Given the description of an element on the screen output the (x, y) to click on. 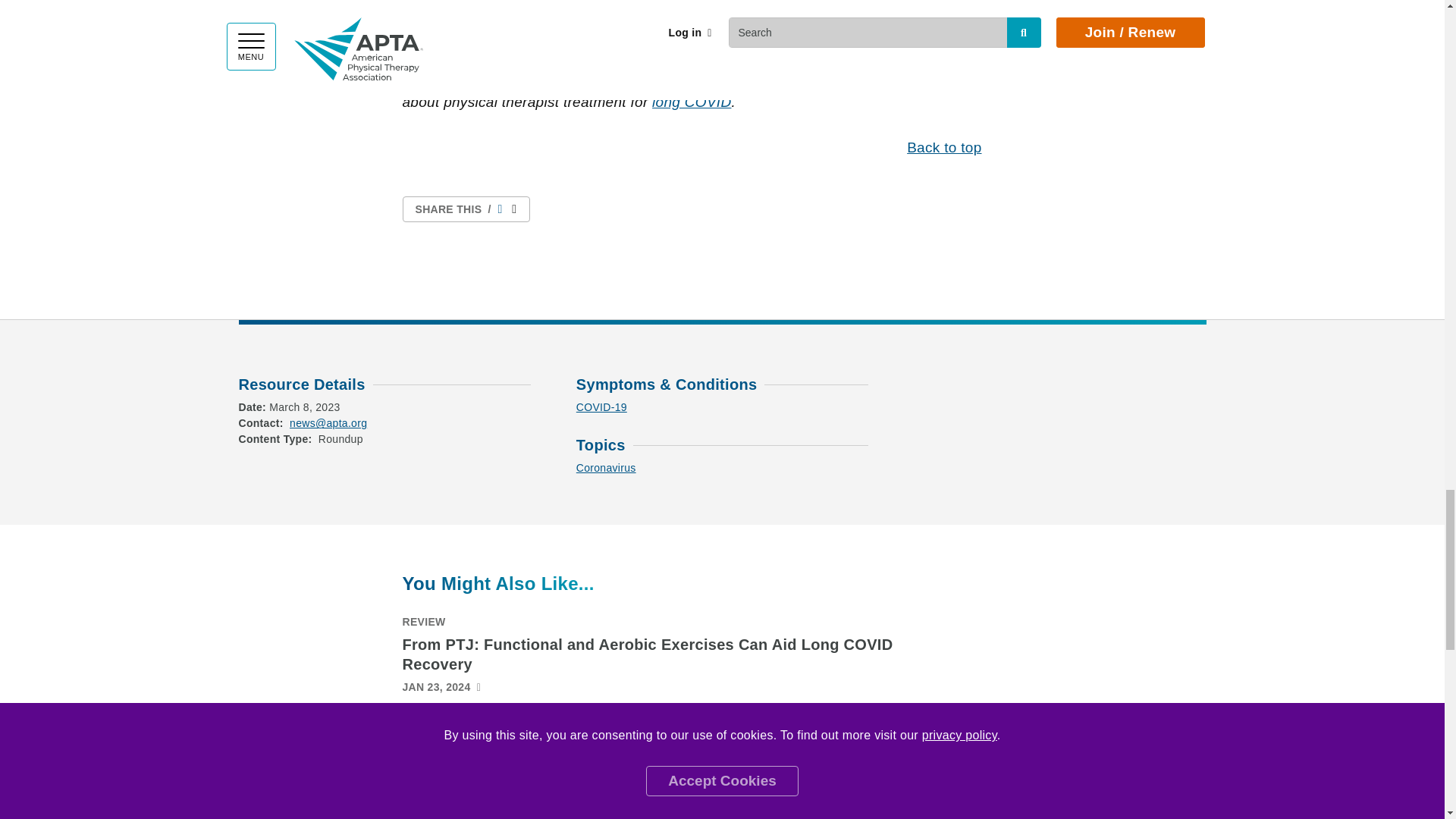
ATPA resource page (771, 28)
APTA resource page (664, 28)
Back to top (944, 147)
consumer-focused webpage (691, 101)
